Given the description of an element on the screen output the (x, y) to click on. 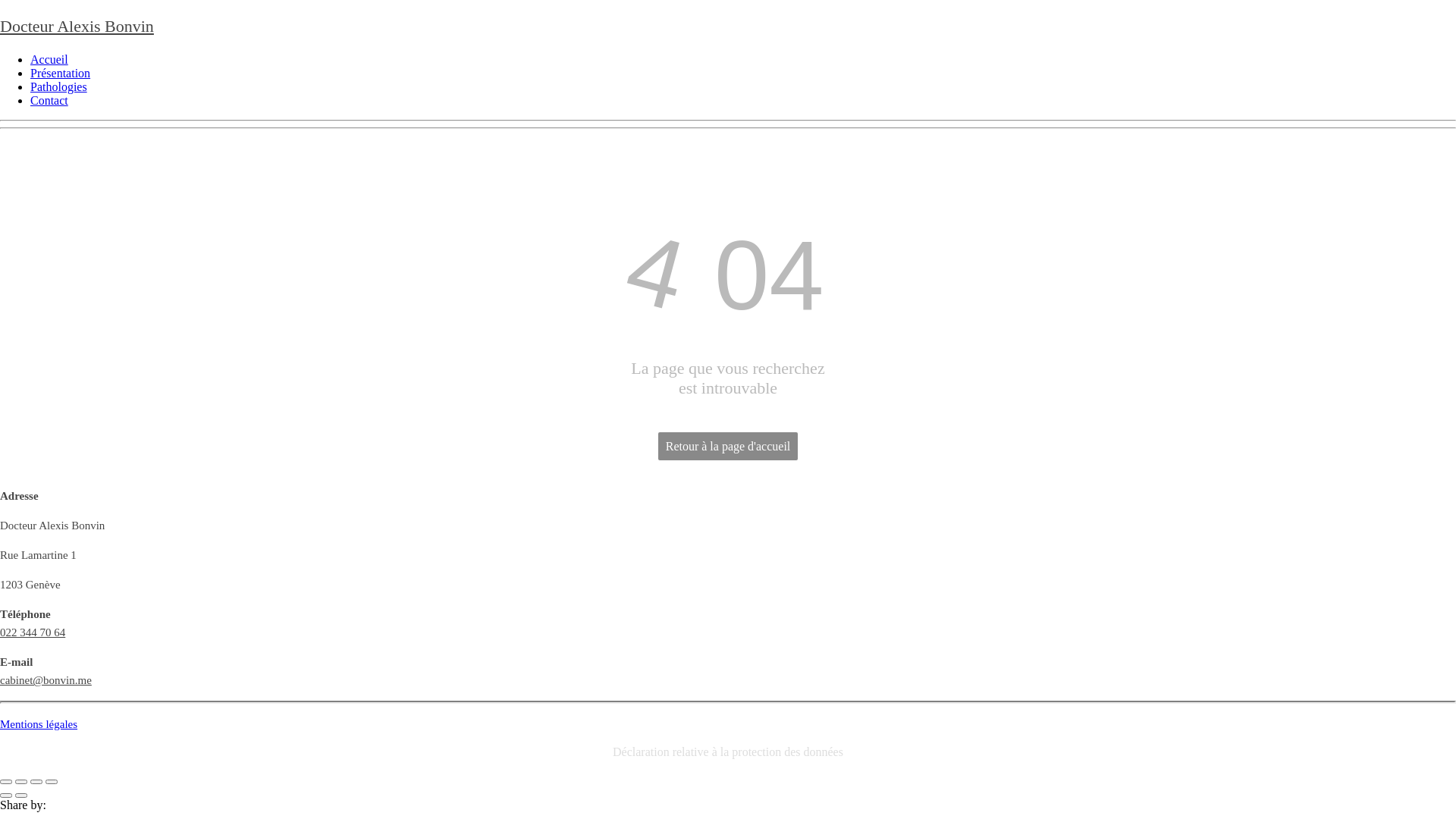
Fermer (Echap) Element type: hover (6, 781)
Contact Element type: text (49, 100)
cabinet@bonvin.me Element type: text (45, 689)
Pathologies Element type: text (58, 86)
Docteur Alexis Bonvin Element type: text (76, 25)
Partager Element type: hover (21, 781)
022 344 70 64 Element type: text (32, 641)
Accueil Element type: text (49, 59)
